Given the description of an element on the screen output the (x, y) to click on. 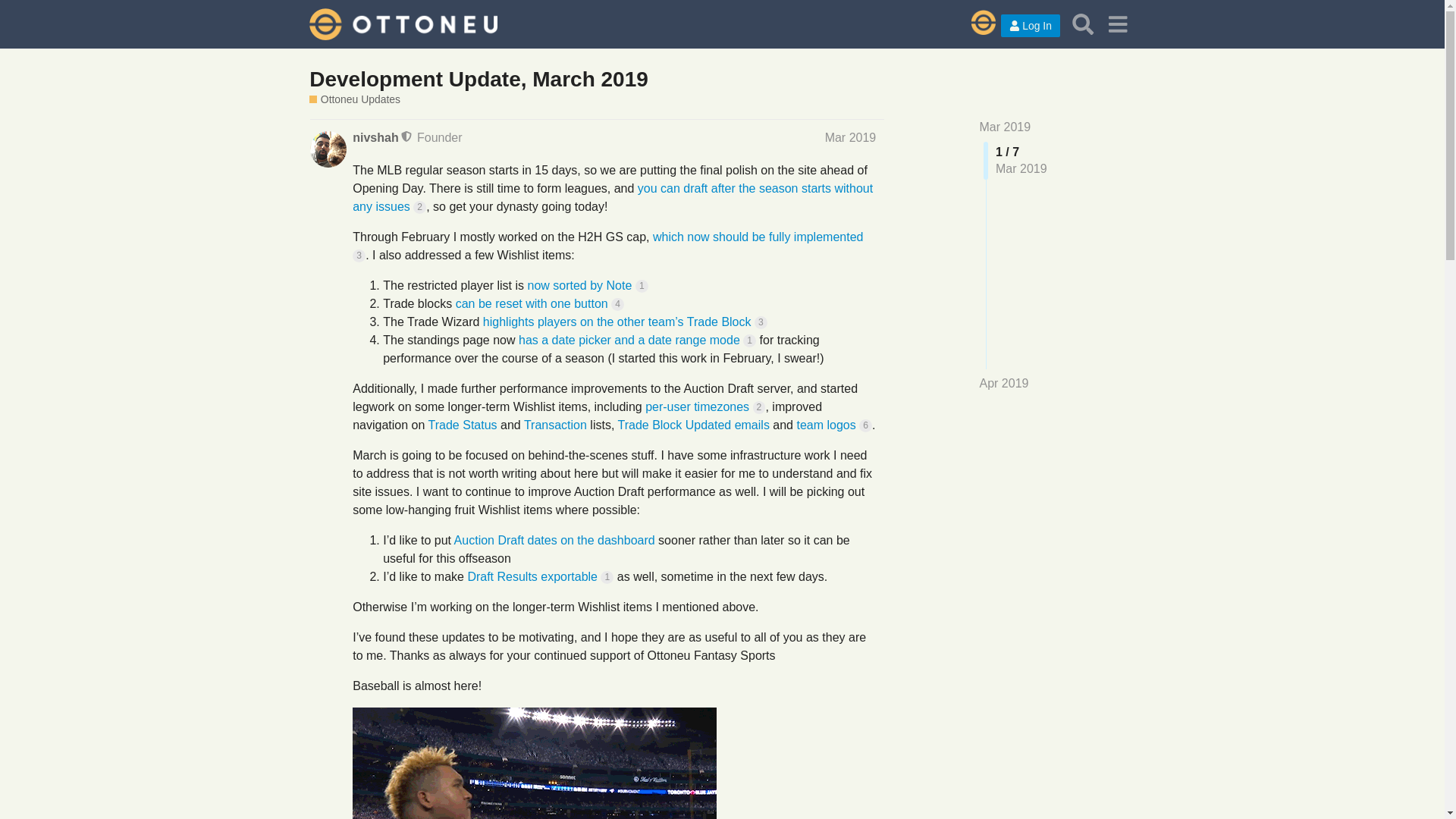
Mar 2019 (1004, 126)
Ottoneu Updates (354, 99)
2 clicks (758, 407)
Jump to the last post (1004, 382)
menu (1117, 23)
Auction Draft dates on the dashboard (554, 540)
you can draft after the season starts without any issues 2 (612, 196)
Trade Block Updated emails (692, 424)
Your Ottoneu User Dashboard (975, 24)
2 clicks (419, 206)
can be reset with one button 4 (539, 303)
Apr 2019 (1004, 383)
Development Update, March 2019 (477, 78)
This user is a moderator (407, 137)
team logos 6 (834, 424)
